Given the description of an element on the screen output the (x, y) to click on. 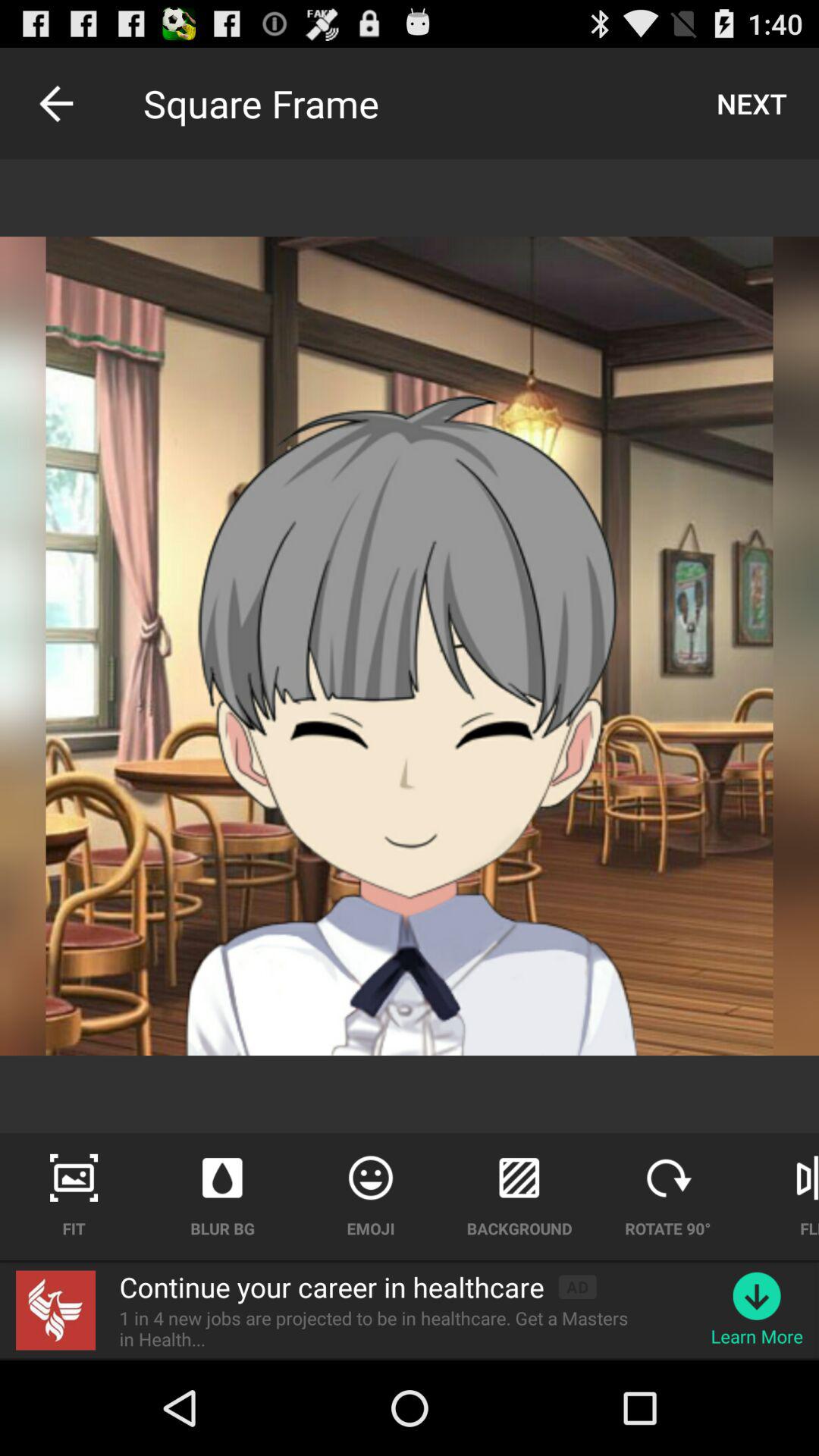
choose 1 in 4 item (383, 1328)
